Given the description of an element on the screen output the (x, y) to click on. 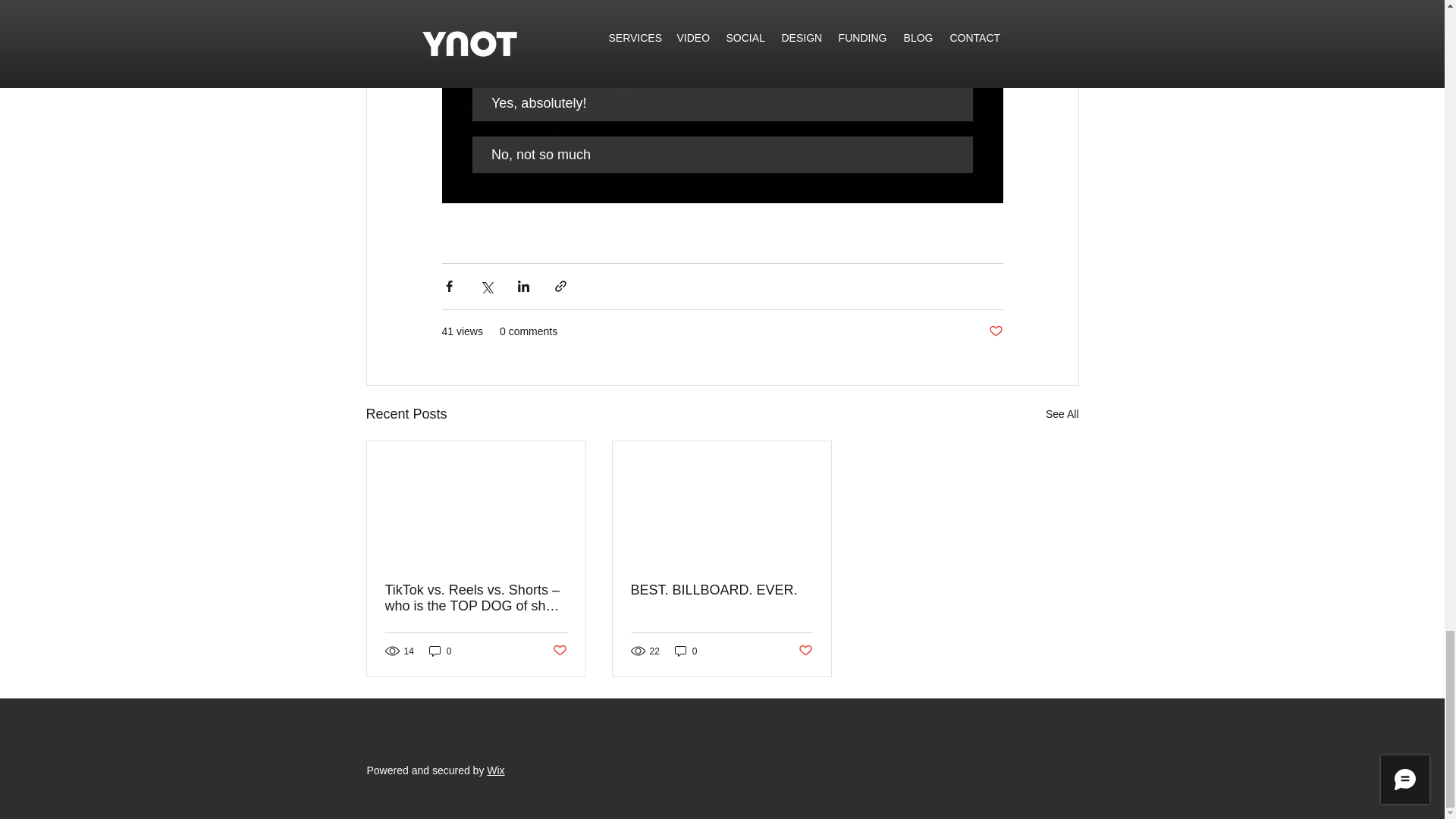
Post not marked as liked (558, 650)
0 (440, 650)
Post not marked as liked (995, 331)
0 (685, 650)
See All (1061, 414)
Post not marked as liked (804, 650)
Wix (494, 770)
BEST. BILLBOARD. EVER. (721, 590)
